Given the description of an element on the screen output the (x, y) to click on. 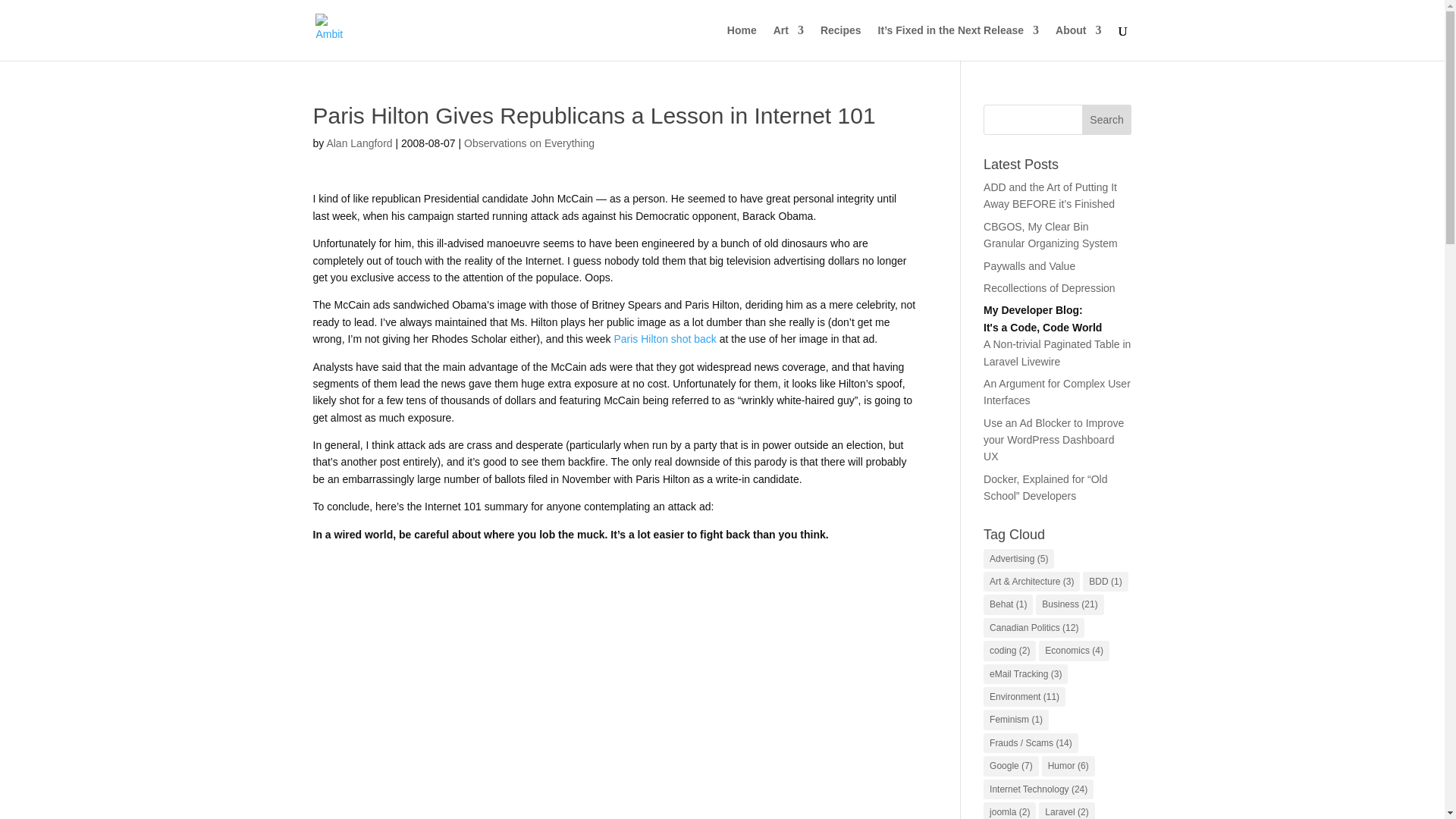
Alan Langford (358, 143)
Posts by Alan Langford (358, 143)
Use an Ad Blocker to Improve your WordPress Dashboard UX (1054, 439)
Observations on Everything (529, 143)
Search (1106, 119)
An Argument for Complex User Interfaces (1057, 391)
Search (1106, 119)
About (1077, 42)
Paywalls and Value (1029, 265)
A Non-trivial Paginated Table in Laravel Livewire (1057, 352)
Recipes (841, 42)
Recollections of Depression (1049, 287)
CBGOS, My Clear Bin Granular Organizing System (1051, 234)
Paris Hilton shot back (664, 338)
